Given the description of an element on the screen output the (x, y) to click on. 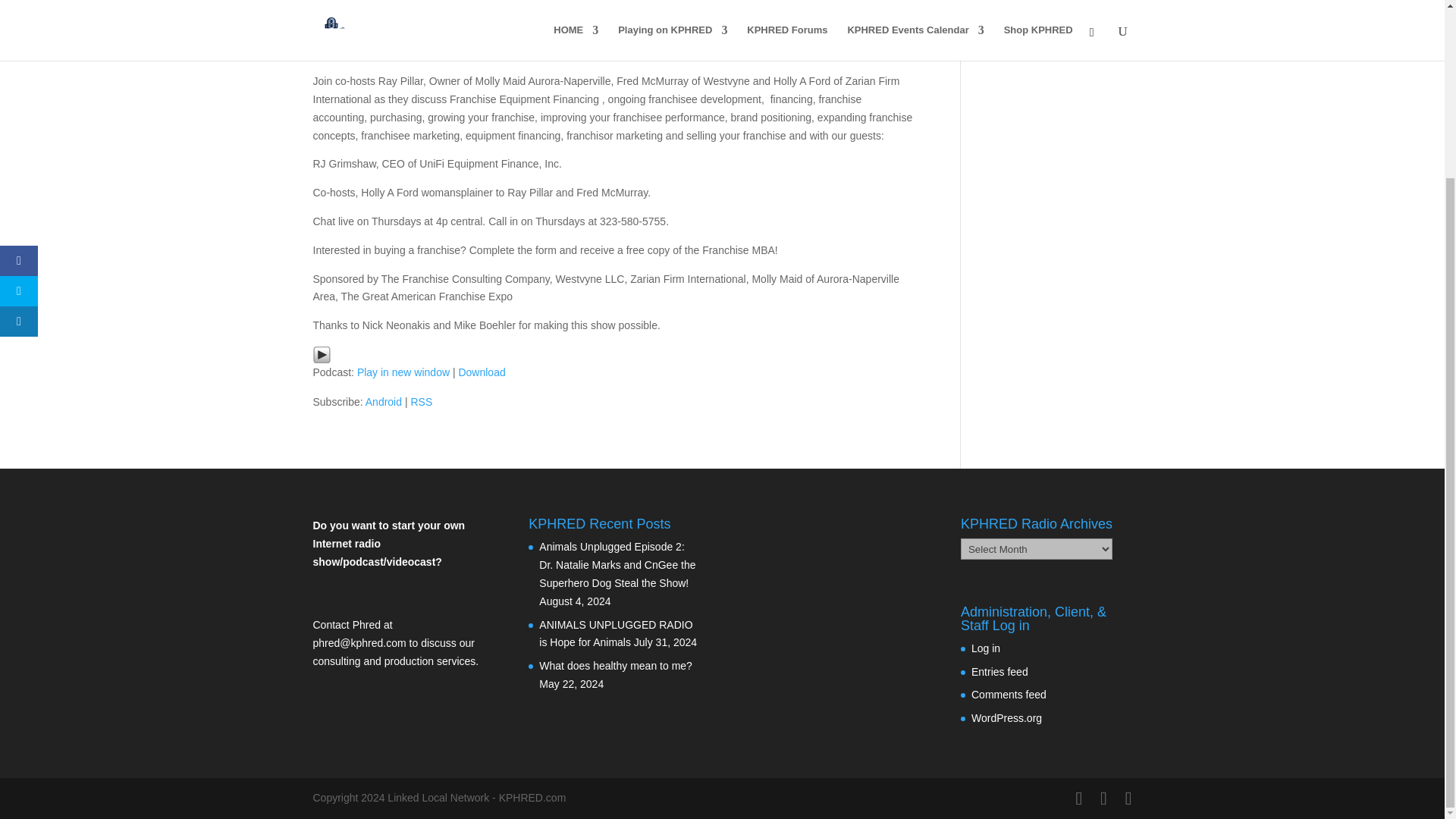
Subscribe via RSS (421, 401)
Play in new window (402, 372)
Subscribe on Android (383, 401)
Play (321, 354)
Play (321, 354)
Download (481, 372)
